Given the description of an element on the screen output the (x, y) to click on. 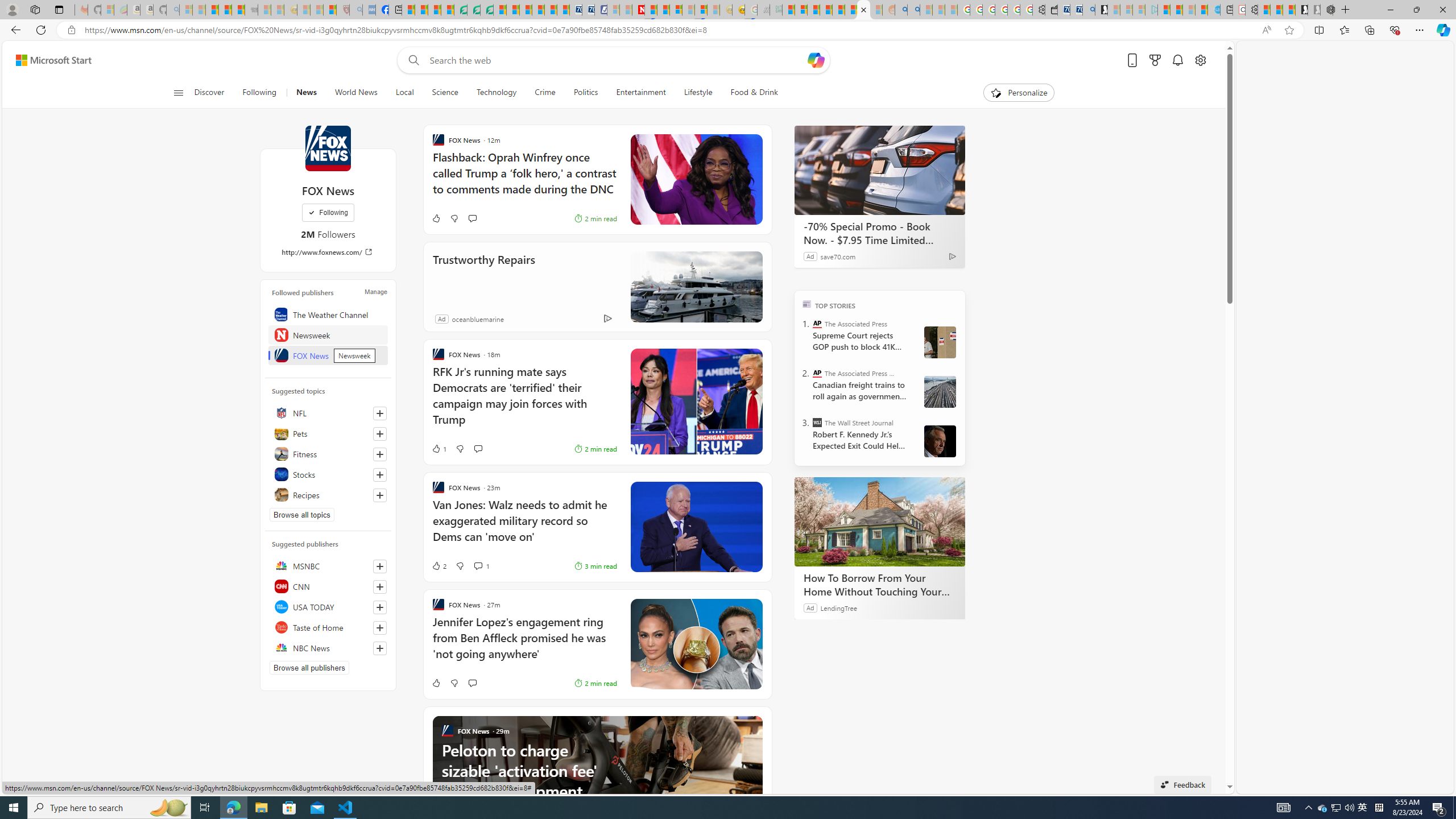
Recipes (327, 494)
Bing Real Estate - Home sales and rental listings (1088, 9)
Trustworthy RepairsAdoceanbluemarine (596, 286)
